Given the description of an element on the screen output the (x, y) to click on. 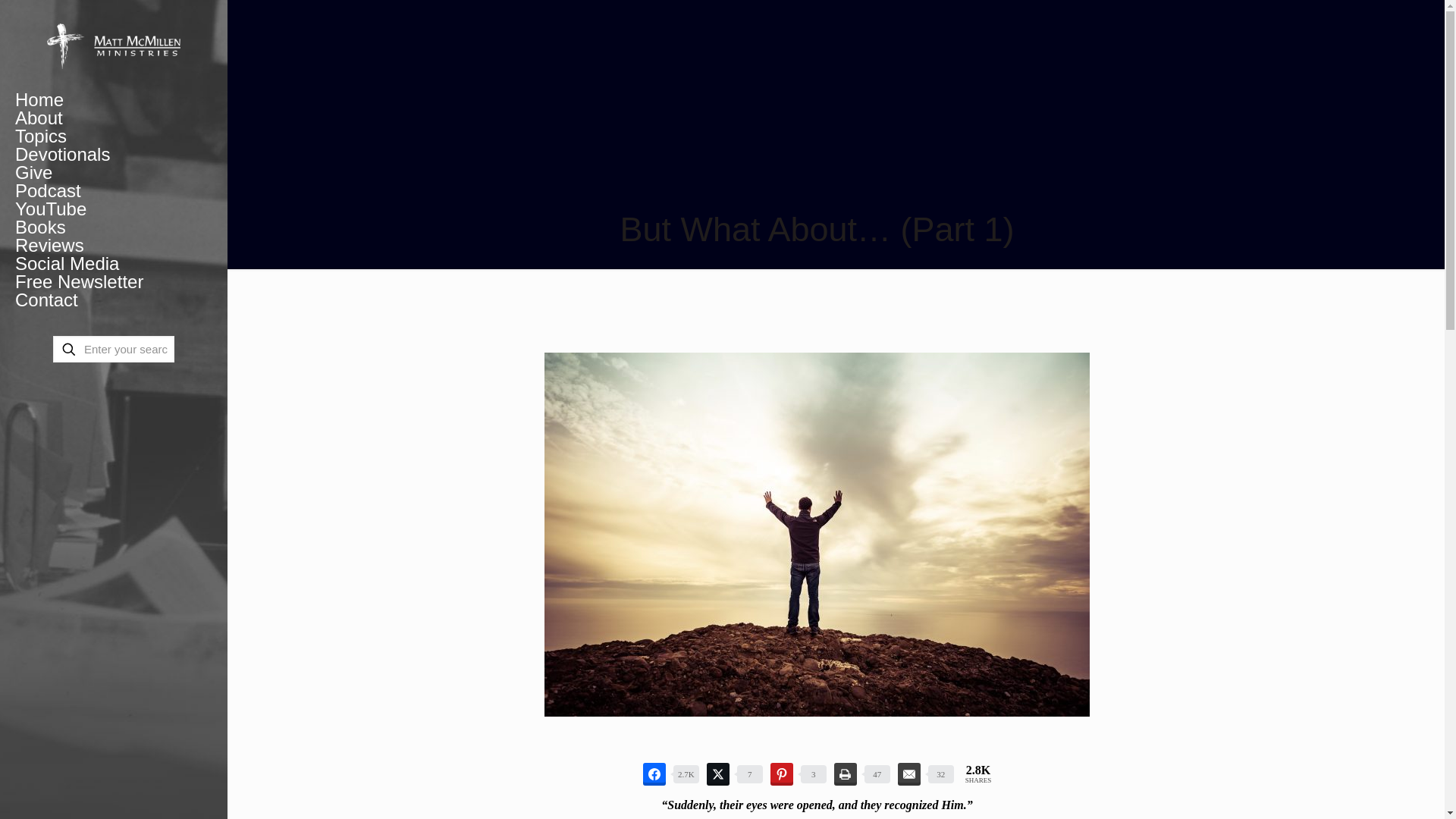
Reviews (113, 245)
Books (113, 227)
About (113, 117)
Devotionals (113, 154)
Share on Print (845, 773)
Home (113, 99)
Give (113, 172)
Share on Pinterest (781, 773)
Share on Facebook (654, 773)
YouTube (113, 208)
